Given the description of an element on the screen output the (x, y) to click on. 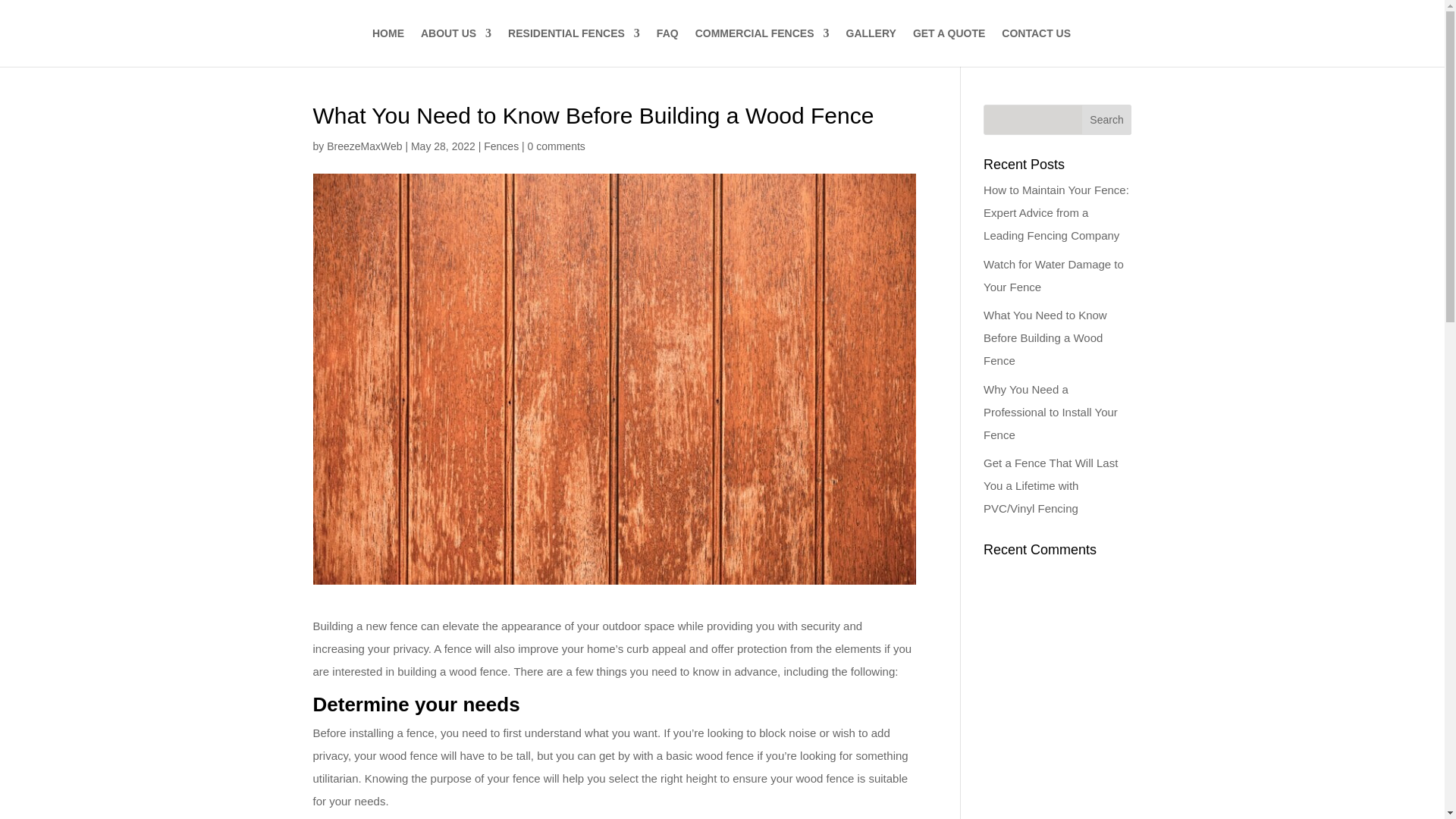
Posts by BreezeMaxWeb (363, 146)
RESIDENTIAL FENCES (574, 33)
Search (1106, 119)
Fences (500, 146)
Watch for Water Damage to Your Fence (1054, 275)
Search (1106, 119)
Why You Need a Professional to Install Your Fence (1051, 411)
GET A QUOTE (948, 33)
BreezeMaxWeb (363, 146)
ABOUT US (456, 33)
